Given the description of an element on the screen output the (x, y) to click on. 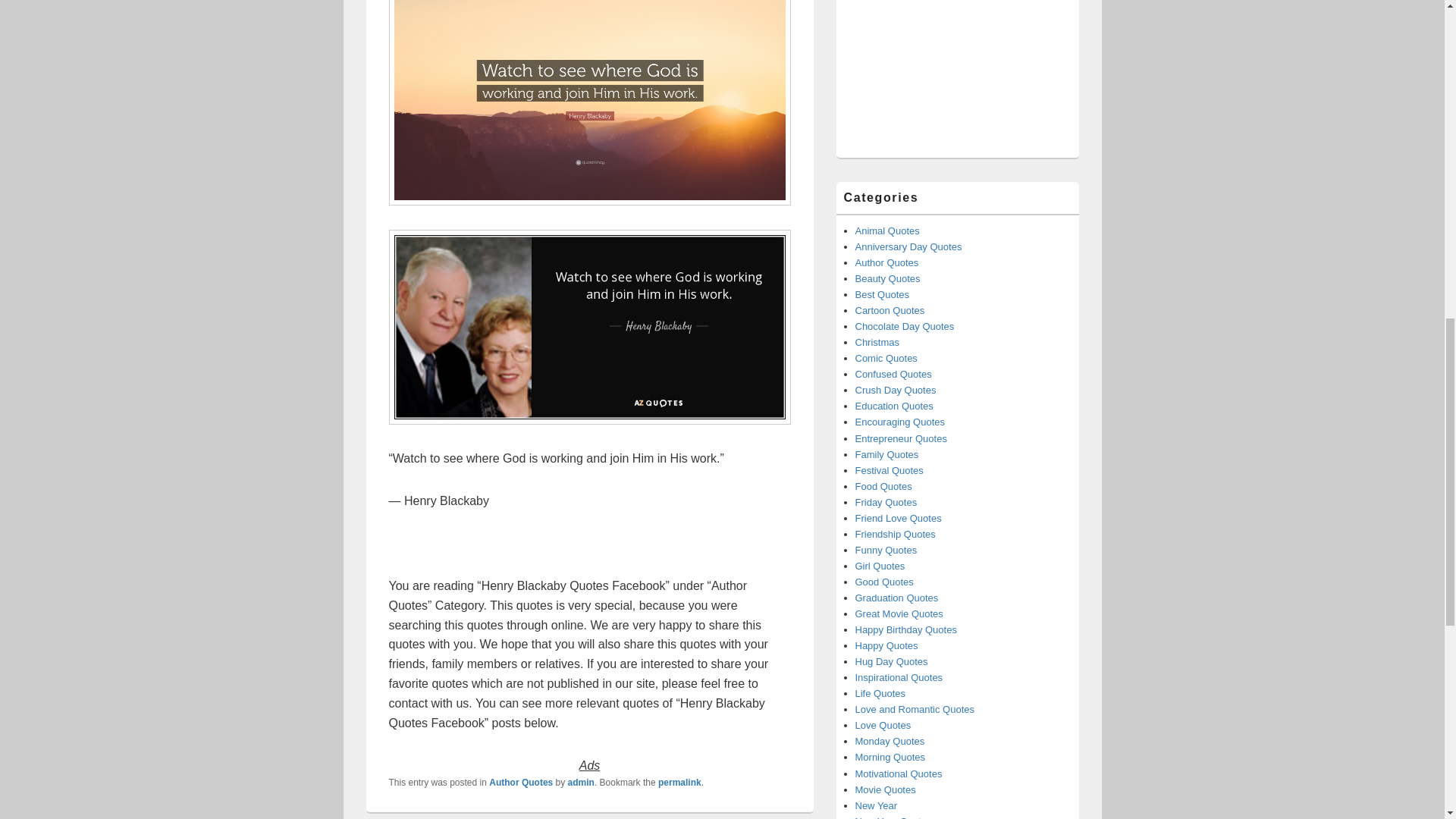
Education Quotes (894, 405)
Author Quotes (521, 782)
Best Quotes (883, 294)
Confused Quotes (893, 374)
Crush Day Quotes (896, 389)
Advertisement (956, 66)
Entrepreneur Quotes (901, 438)
Anniversary Day Quotes (909, 246)
Chocolate Day Quotes (905, 326)
Animal Quotes (888, 230)
Christmas (877, 342)
Beauty Quotes (888, 278)
Comic Quotes (886, 357)
admin (580, 782)
Cartoon Quotes (890, 310)
